Given the description of an element on the screen output the (x, y) to click on. 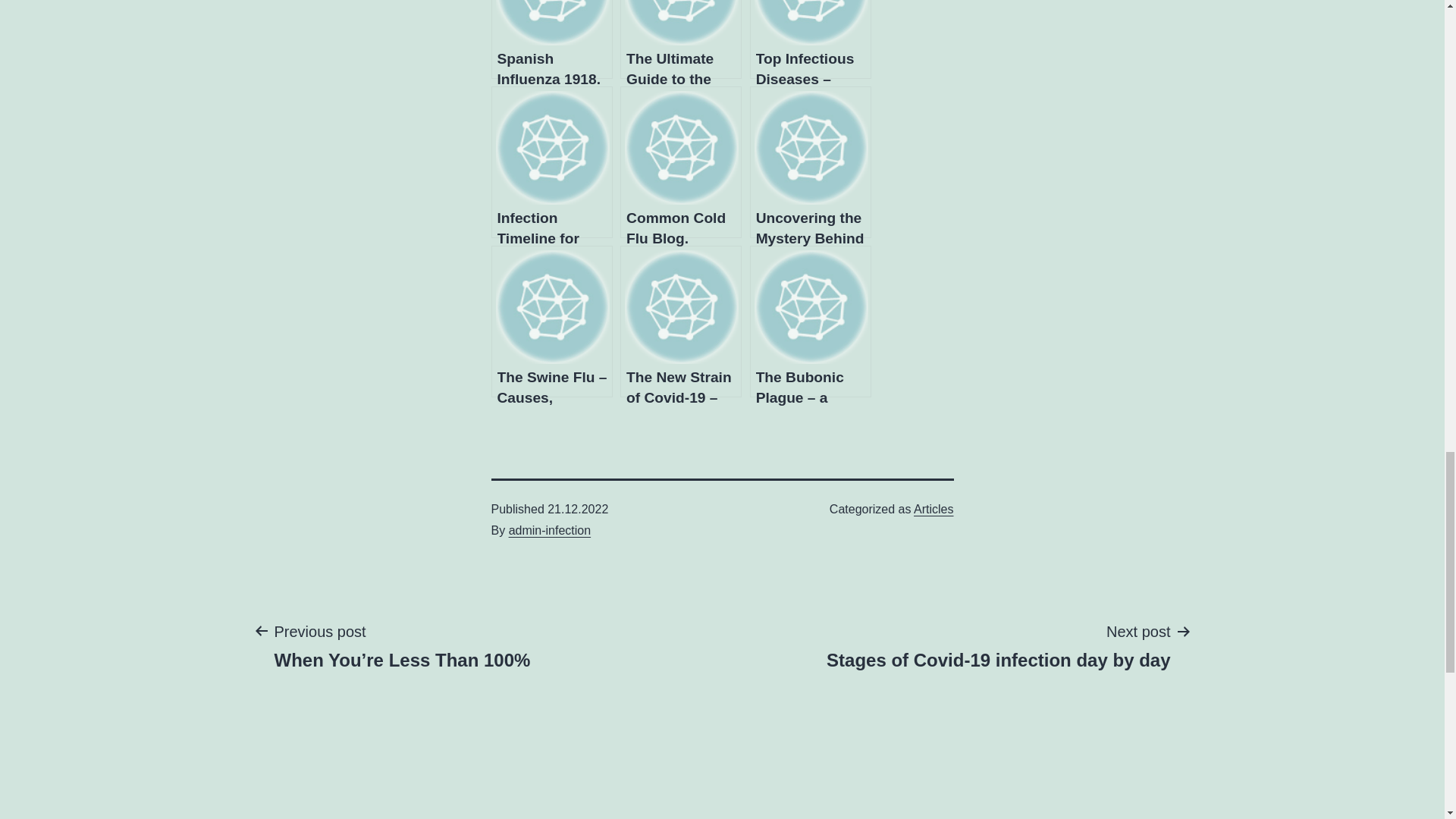
Articles (933, 508)
admin-infection (549, 530)
